Given the description of an element on the screen output the (x, y) to click on. 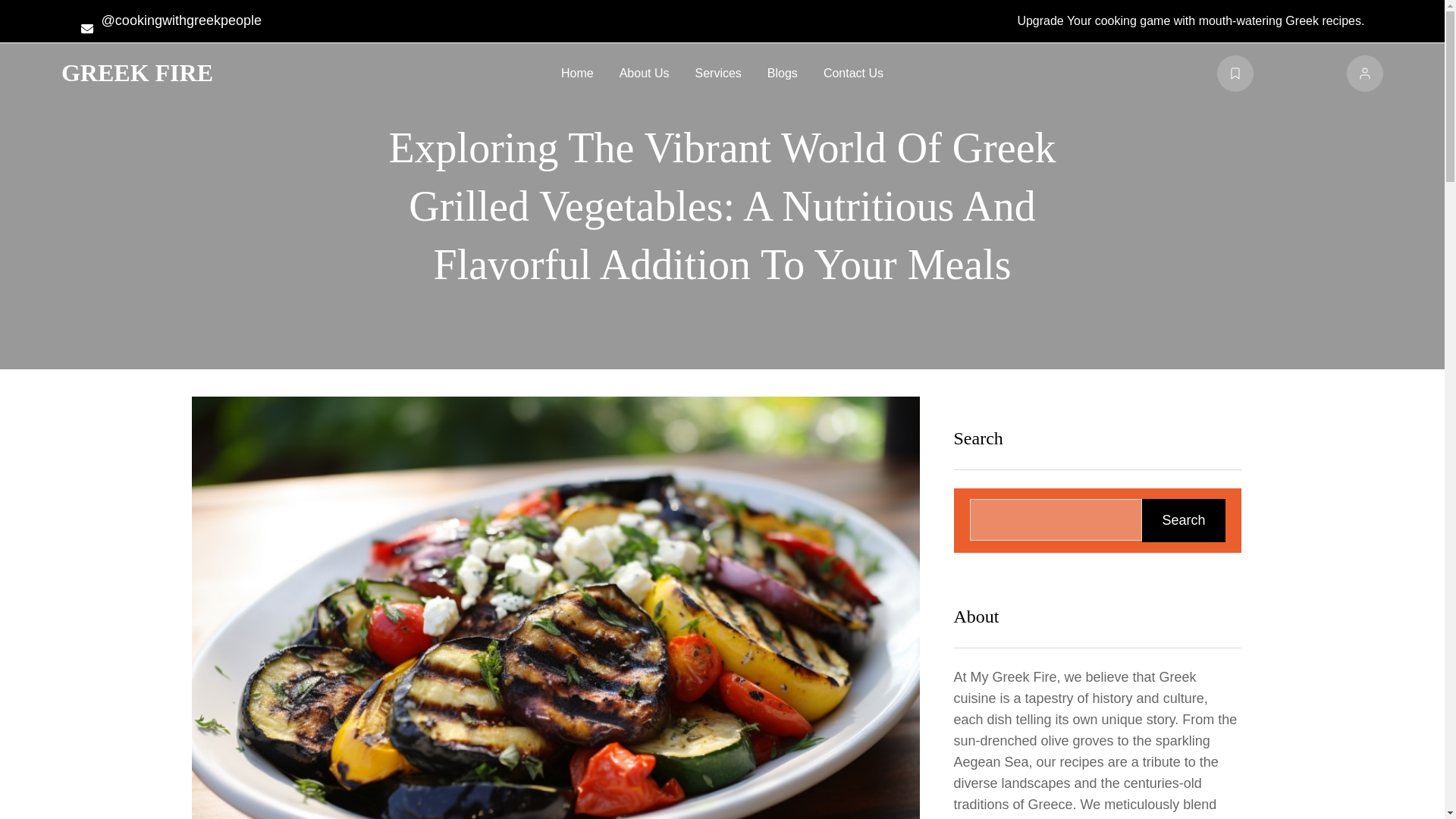
Contact Us (853, 72)
About Us (644, 72)
Blogs (782, 72)
Services (717, 72)
Home (577, 72)
GREEK FIRE (136, 72)
Search (1182, 519)
